Given the description of an element on the screen output the (x, y) to click on. 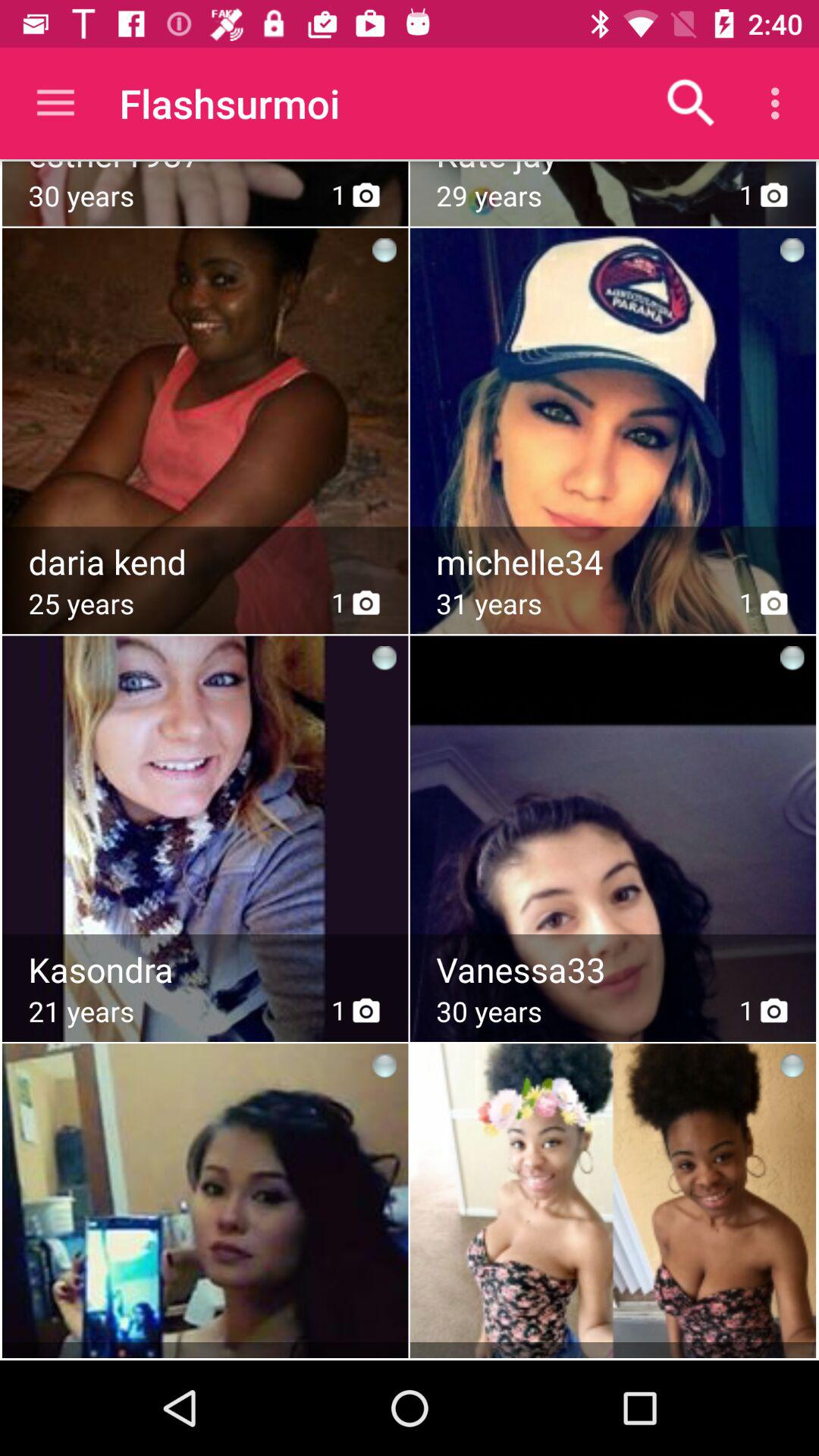
open michelle34 profile (614, 562)
